Given the description of an element on the screen output the (x, y) to click on. 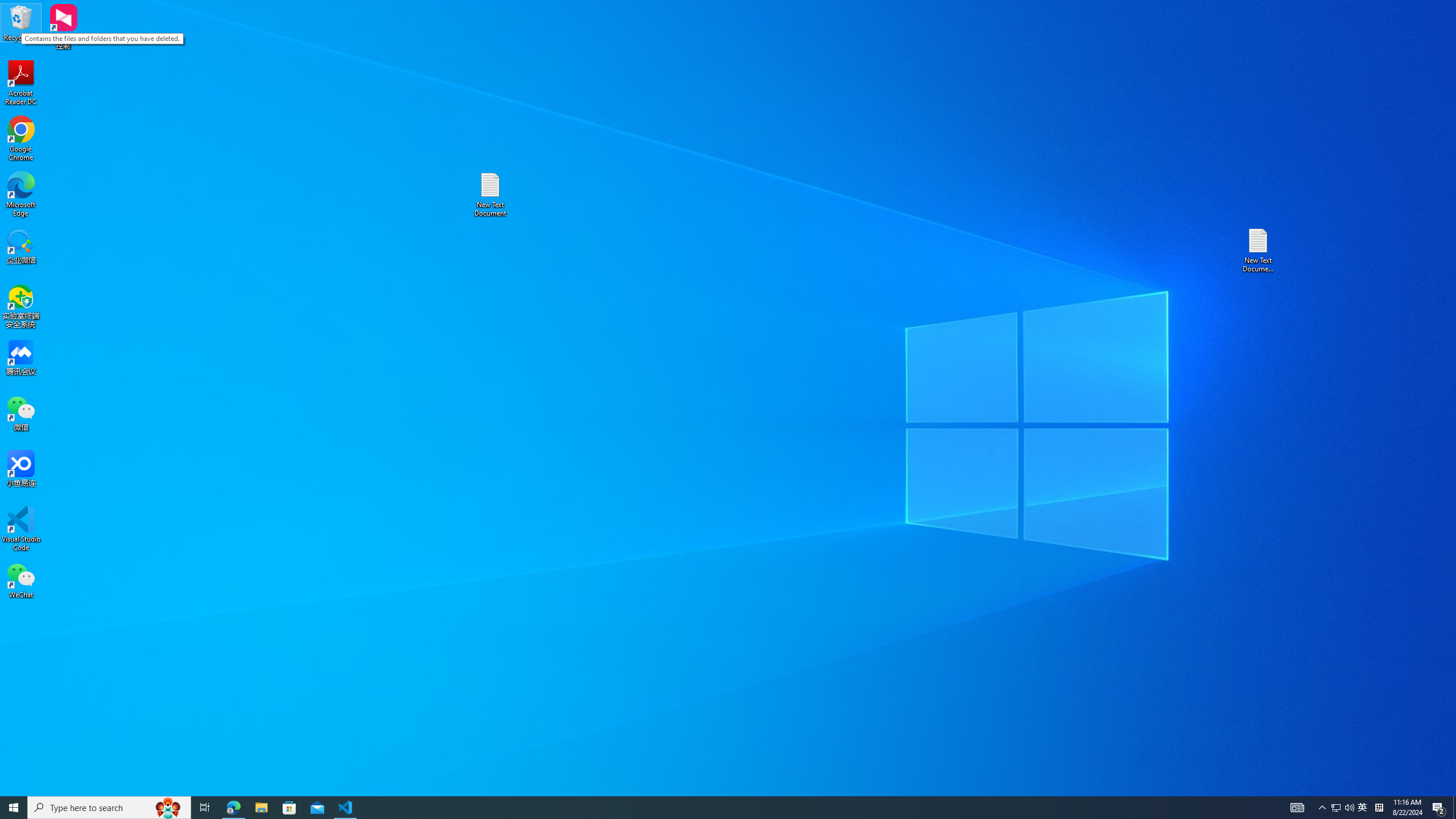
Microsoft Store (289, 807)
Google Chrome (21, 138)
User Promoted Notification Area (1342, 807)
Q2790: 100% (1349, 807)
Recycle Bin (21, 22)
Start (13, 807)
Microsoft Edge - 1 running window (233, 807)
Running applications (707, 807)
Tray Input Indicator - Chinese (Simplified, China) (1378, 807)
Show desktop (1454, 807)
AutomationID: 4105 (1297, 807)
New Text Document (489, 194)
